Given the description of an element on the screen output the (x, y) to click on. 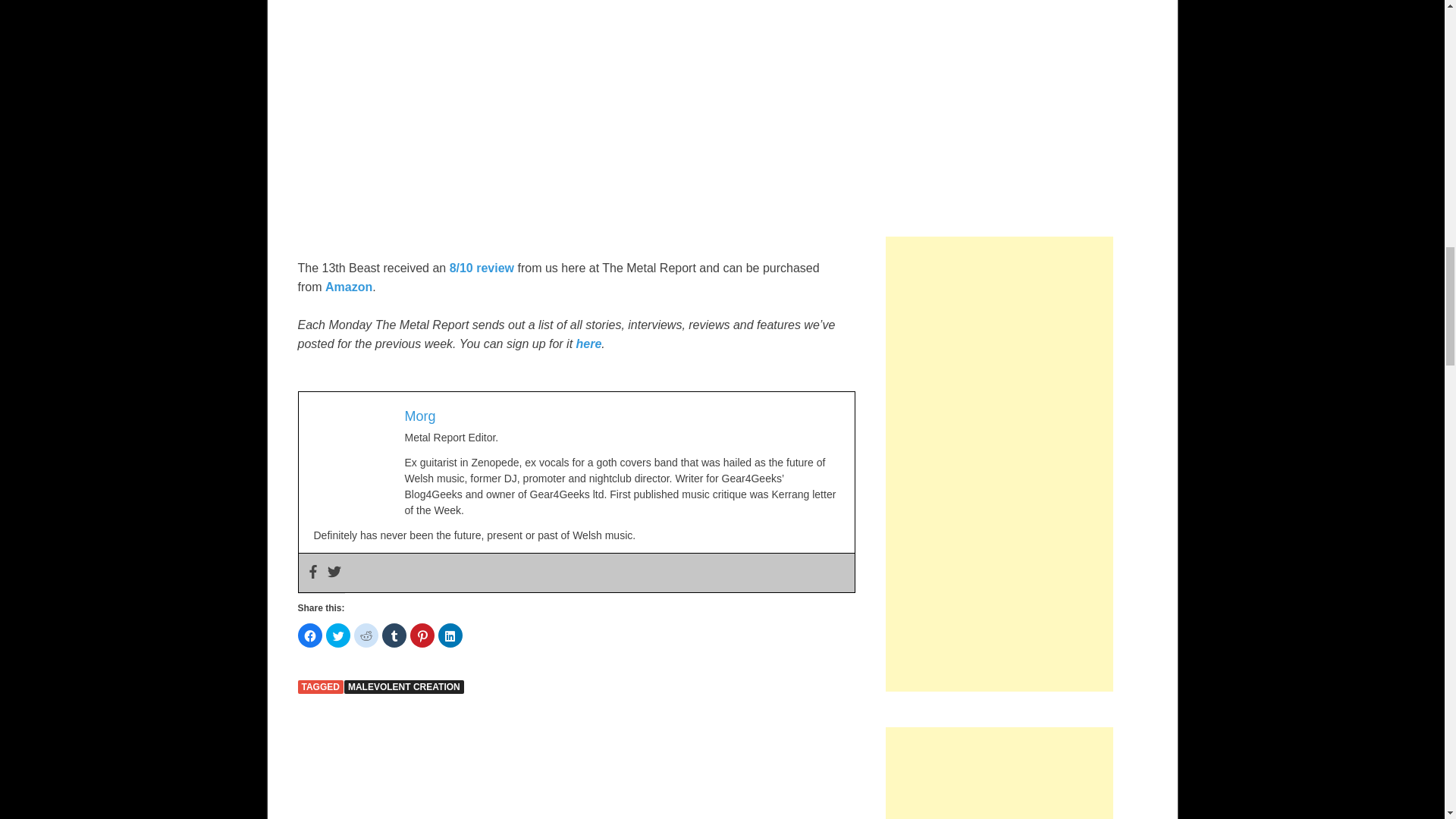
Click to share on Reddit (365, 635)
Click to share on Pinterest (421, 635)
Click to share on Facebook (309, 635)
Morg (419, 416)
MALEVOLENT CREATION (403, 686)
Amazon (348, 286)
Click to share on LinkedIn (450, 635)
Click to share on Twitter (338, 635)
here (589, 343)
Click to share on Tumblr (393, 635)
